Given the description of an element on the screen output the (x, y) to click on. 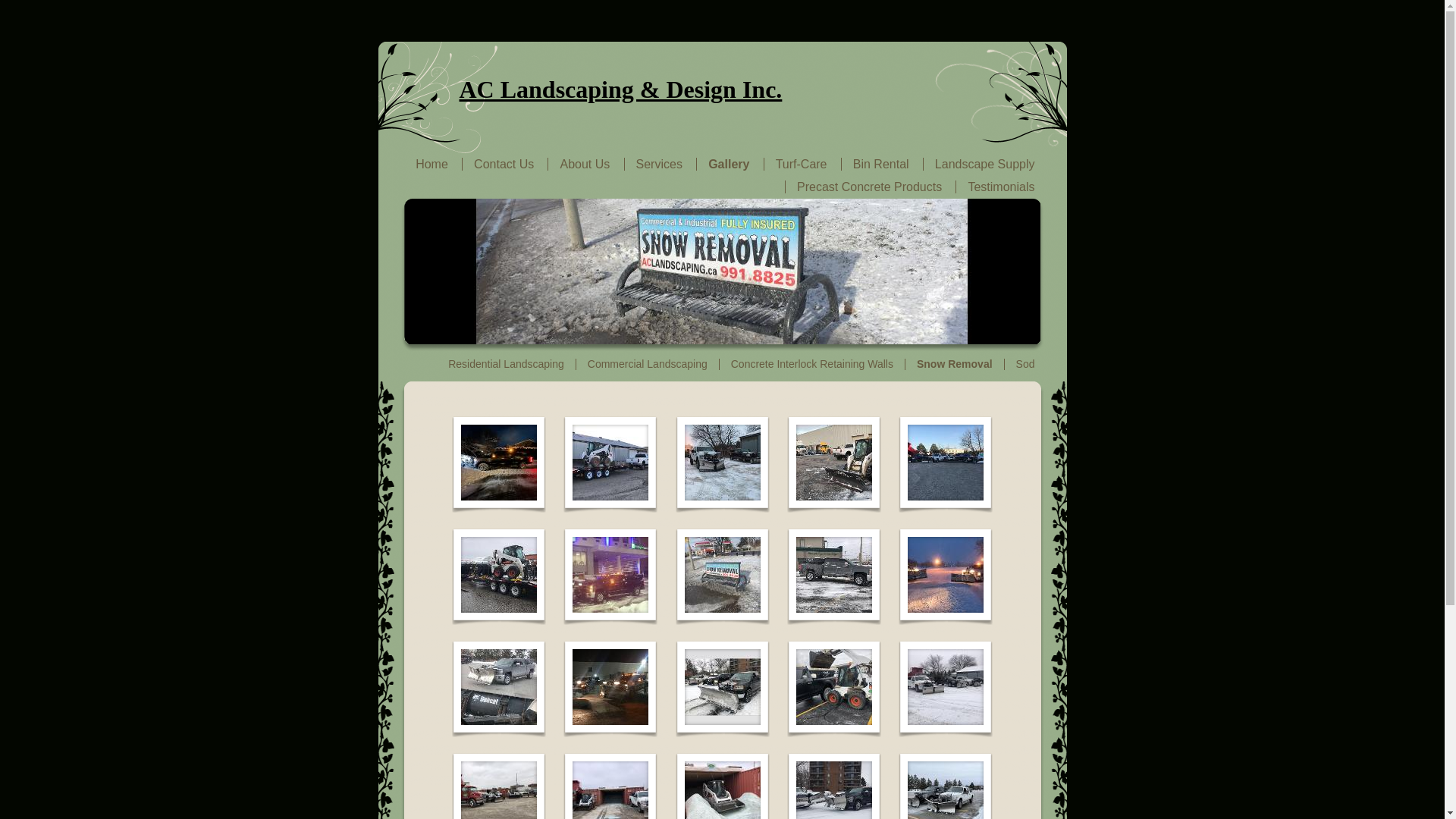
Services Element type: text (659, 163)
Bin Rental Element type: text (881, 163)
Landscape Supply Element type: text (985, 163)
AC Landscaping & Design Inc. Element type: text (620, 89)
Testimonials Element type: text (1000, 186)
Concrete Interlock Retaining Walls Element type: text (812, 363)
Residential Landscaping Element type: text (506, 363)
Commercial Landscaping Element type: text (647, 363)
Turf-Care Element type: text (801, 163)
Home Element type: text (431, 163)
Snow Removal Element type: text (954, 363)
About Us Element type: text (584, 163)
Precast Concrete Products Element type: text (869, 186)
Contact Us Element type: text (503, 163)
Gallery Element type: text (728, 163)
Sod Element type: text (1025, 363)
